Given the description of an element on the screen output the (x, y) to click on. 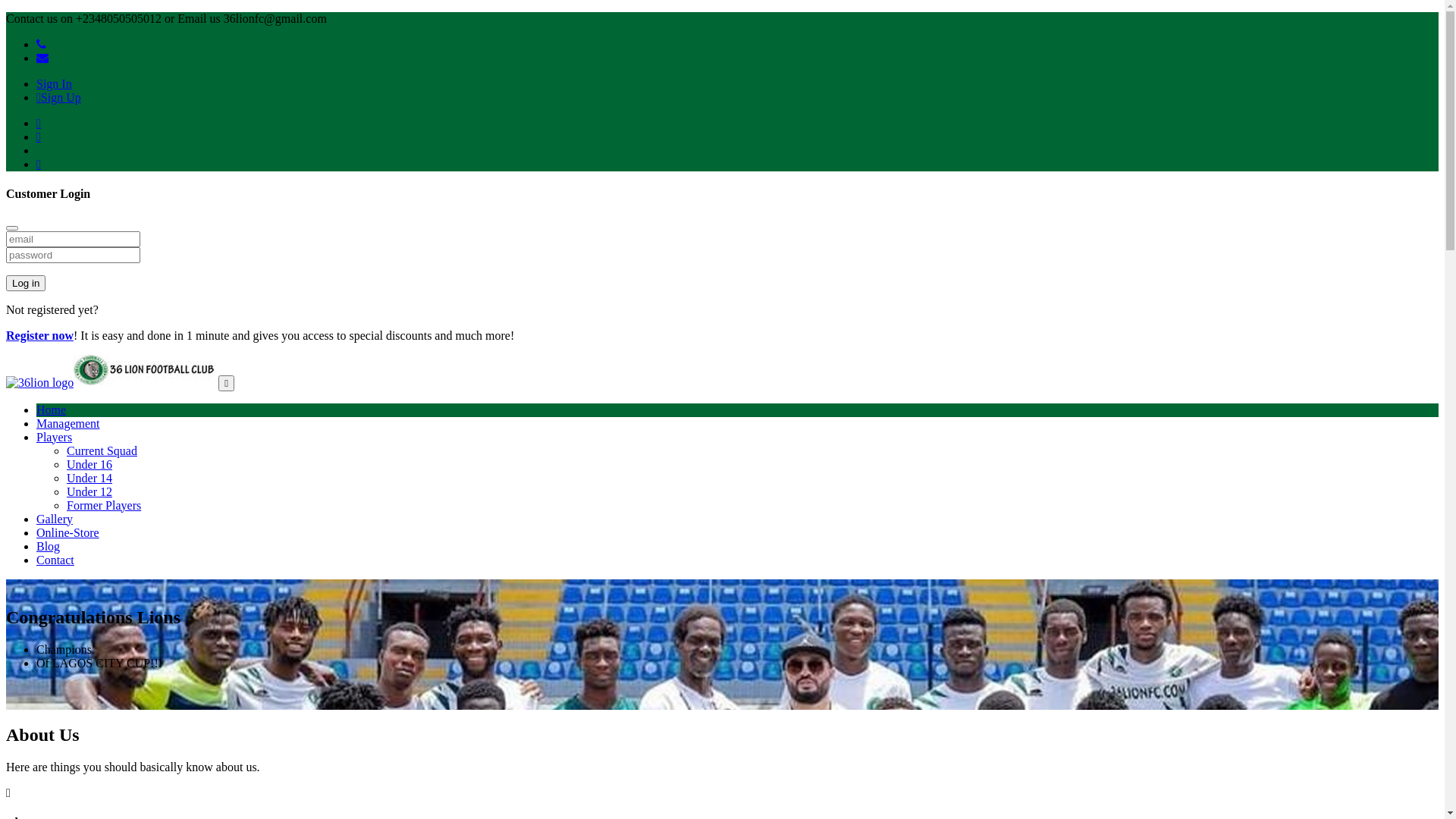
Management Element type: text (68, 423)
Blog Element type: text (47, 545)
Sign Up Element type: text (58, 97)
Gallery Element type: text (54, 518)
Under 12 Element type: text (89, 491)
Current Squad Element type: text (101, 450)
Twitter Element type: hover (38, 136)
36 Lion FC - go to homepage Element type: text (110, 382)
Toggle navigation Element type: text (226, 383)
Online-Store Element type: text (67, 532)
Home Element type: text (50, 409)
Players Element type: text (54, 436)
Register now Element type: text (39, 335)
Sign In Element type: text (54, 83)
Under 14 Element type: text (89, 477)
Facebook Element type: hover (38, 122)
Contact Element type: text (55, 559)
Under 16 Element type: text (89, 464)
Log in Element type: text (25, 283)
Former Players Element type: text (103, 504)
Email Element type: hover (38, 163)
